Given the description of an element on the screen output the (x, y) to click on. 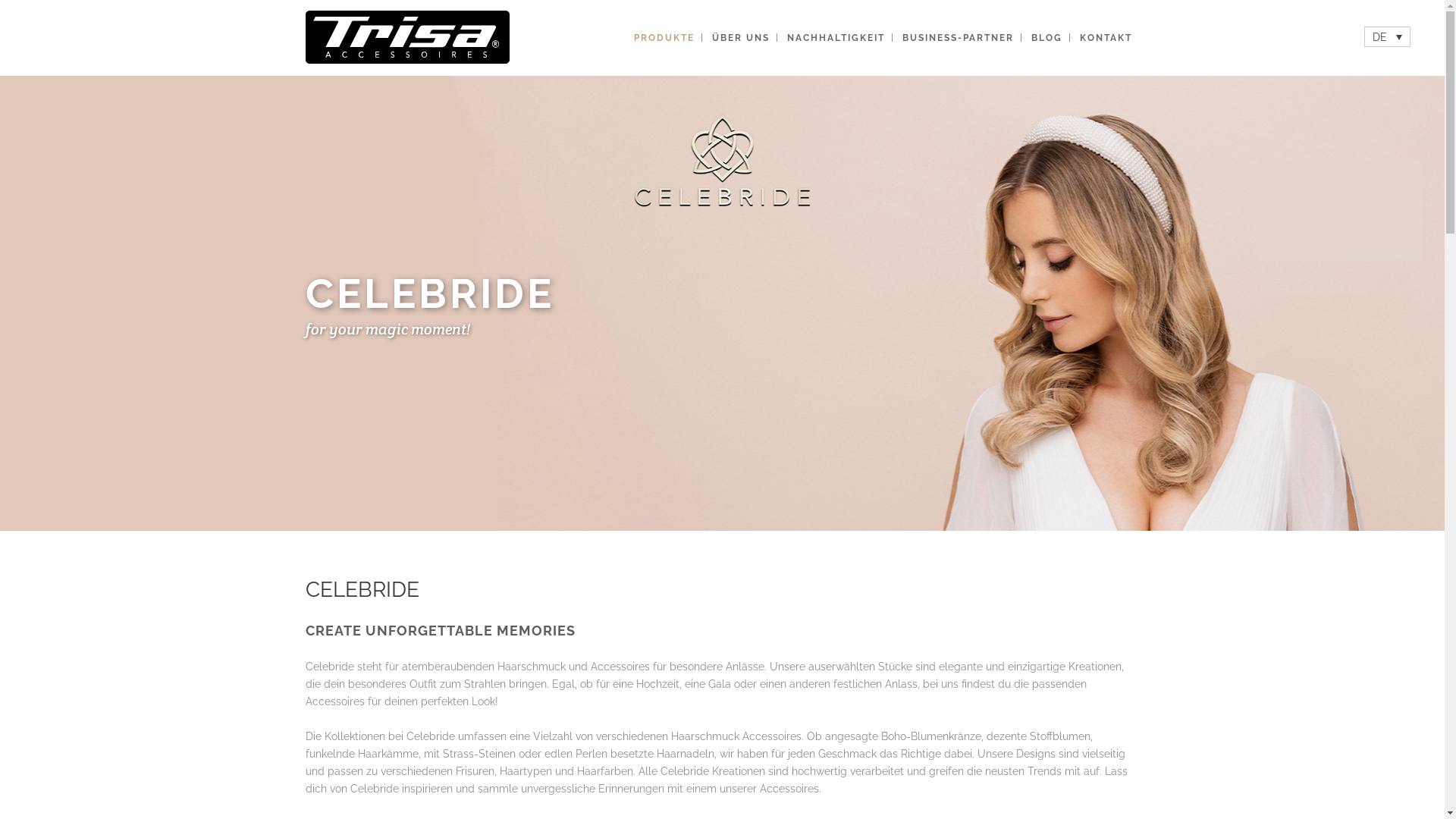
DE Element type: text (1387, 36)
BLOG Element type: text (1046, 37)
NACHHALTIGKEIT Element type: text (835, 37)
BUSINESS-PARTNER Element type: text (957, 37)
PRODUKTE Element type: text (664, 37)
KONTAKT Element type: text (1105, 37)
